Given the description of an element on the screen output the (x, y) to click on. 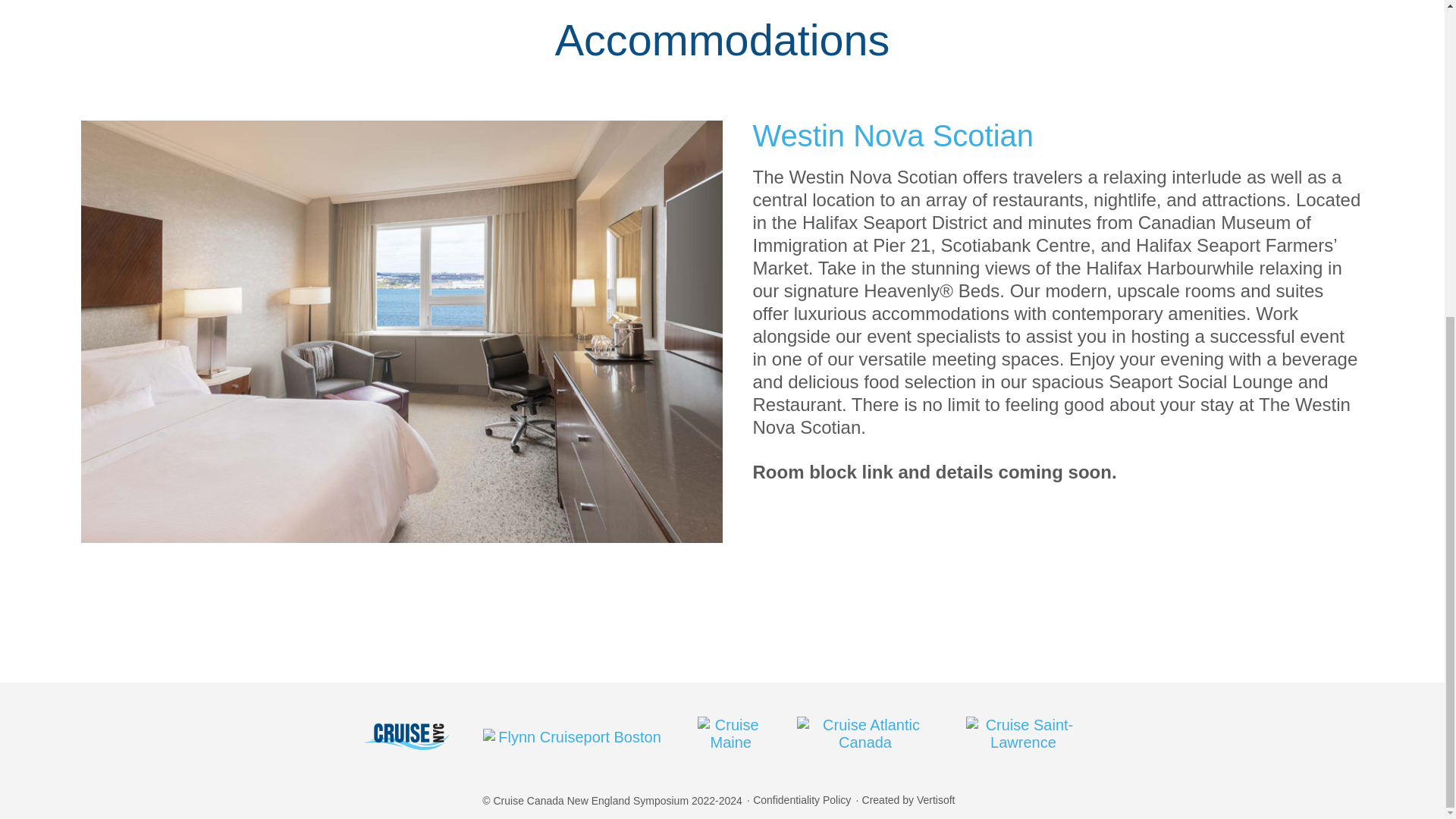
Created by Vertisoft (908, 800)
Confidentiality Policy (801, 800)
